Given the description of an element on the screen output the (x, y) to click on. 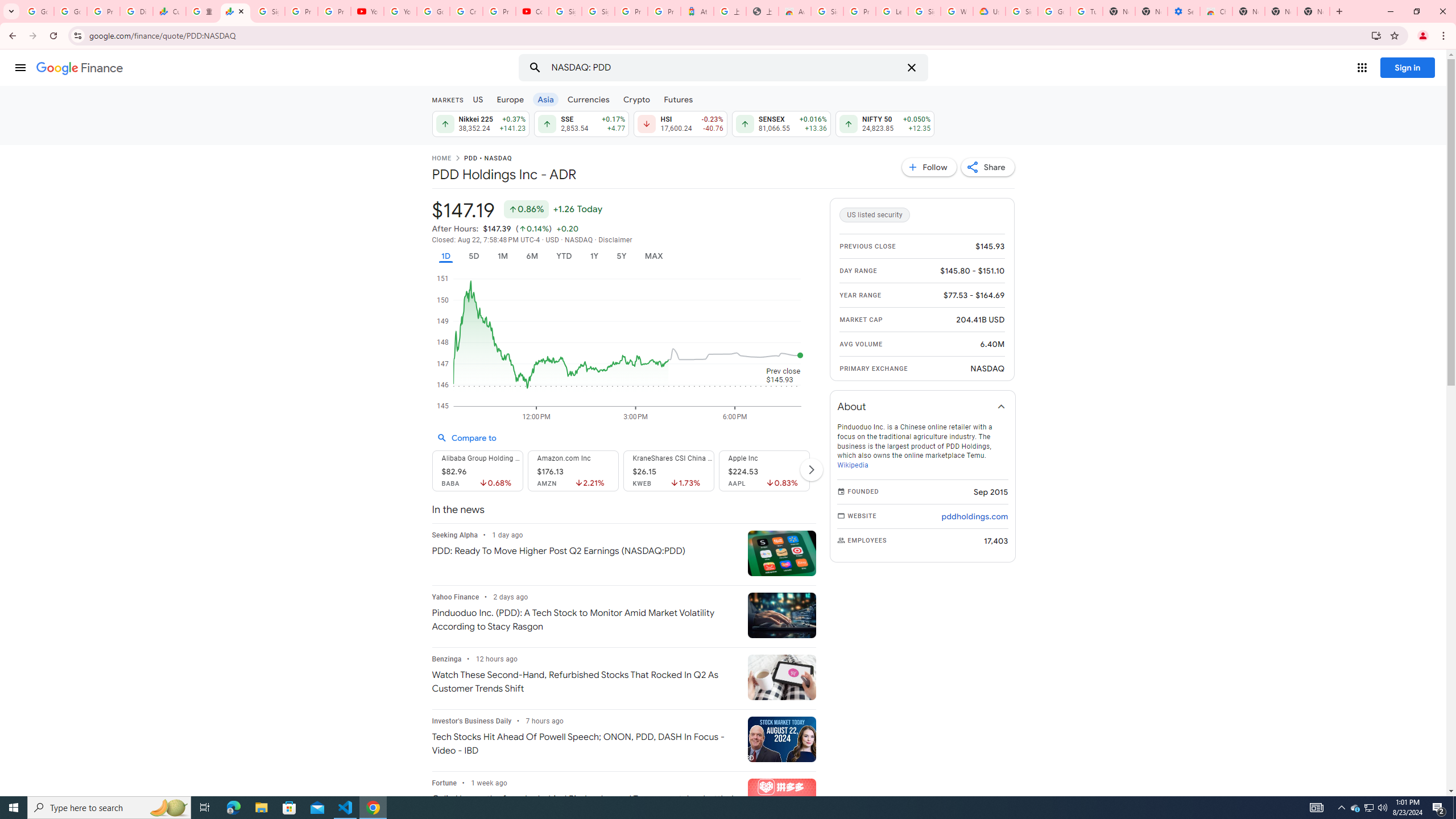
Awesome Screen Recorder & Screenshot - Chrome Web Store (794, 11)
MAX (653, 255)
Sign in - Google Accounts (1021, 11)
New Tab (1248, 11)
Who are Google's partners? - Privacy and conditions - Google (957, 11)
Finance (79, 68)
PDD Holdings Inc - ADR (PDD) Price & News - Google Finance (235, 11)
Privacy Checkup (334, 11)
1D (445, 255)
